Given the description of an element on the screen output the (x, y) to click on. 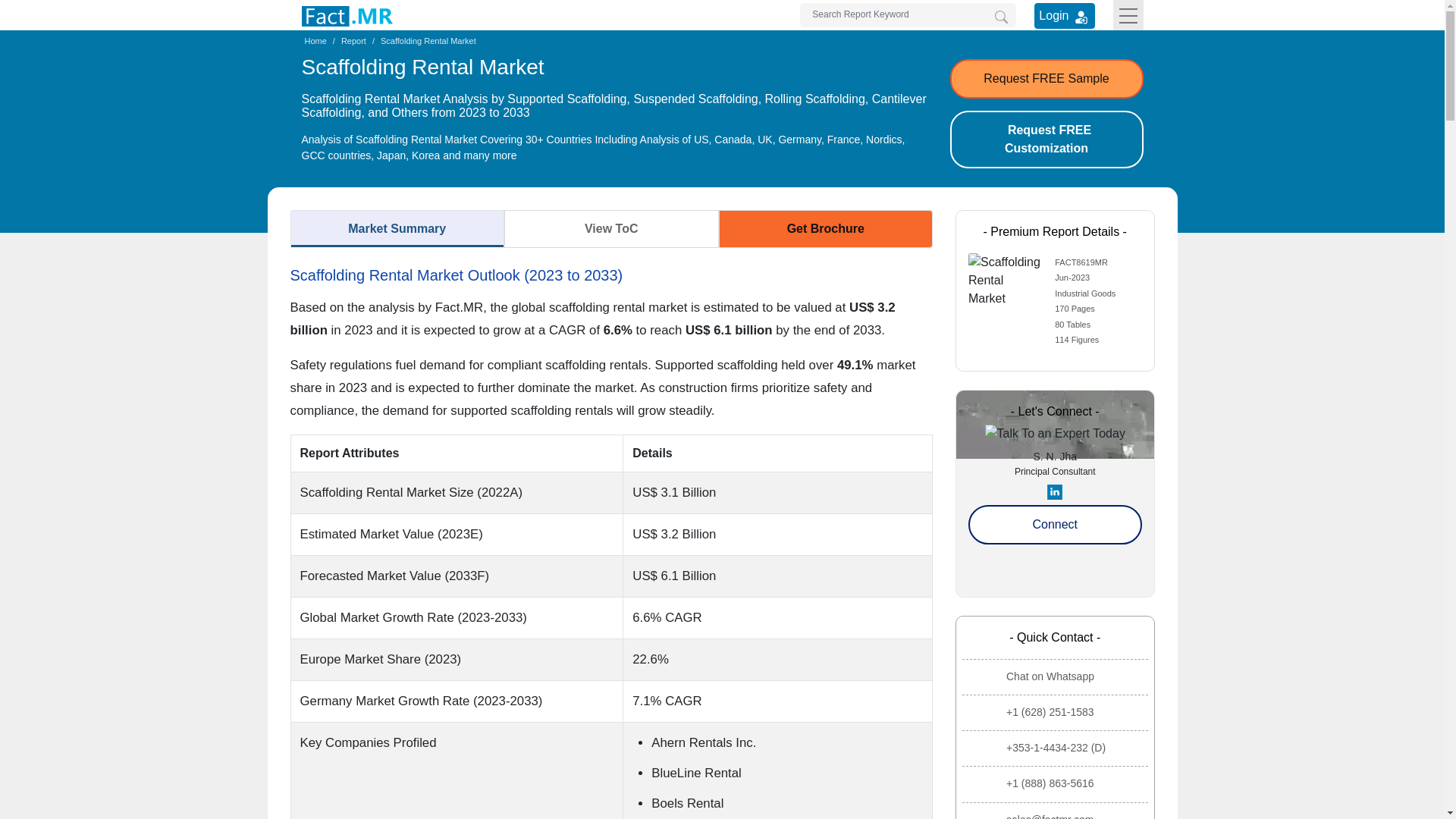
Home (315, 40)
Get Brochure (826, 228)
Login (1080, 17)
Login (1063, 15)
Report (353, 40)
Search (1001, 16)
Connect (1054, 524)
Chat on Whatsapp (1057, 677)
View ToC (611, 228)
Request FREE Customization (1045, 139)
